Given the description of an element on the screen output the (x, y) to click on. 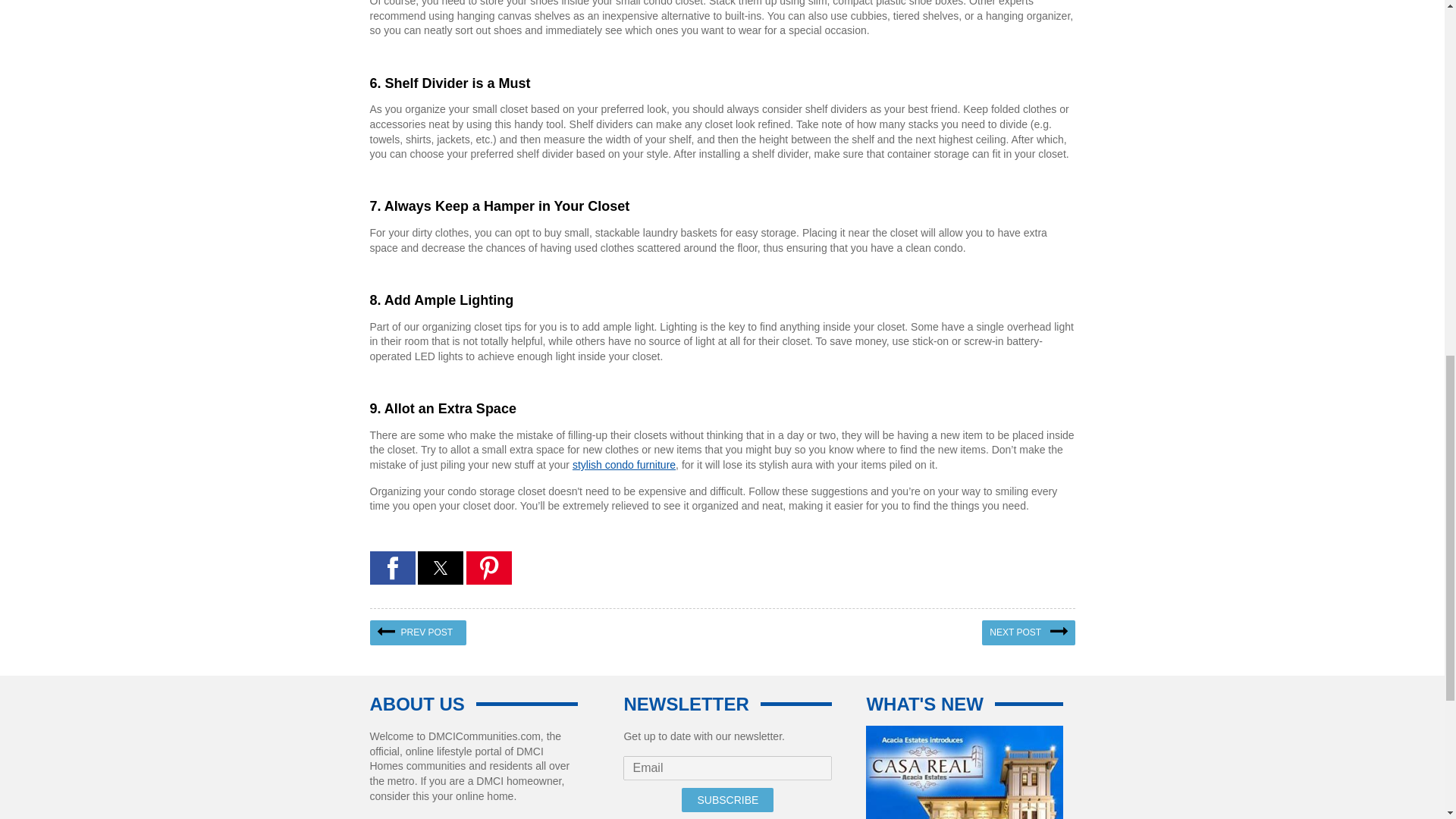
Subscribe (727, 799)
Subscribe (727, 799)
stylish condo furniture (623, 464)
NEXT POST (1027, 632)
PREV POST (418, 632)
